Given the description of an element on the screen output the (x, y) to click on. 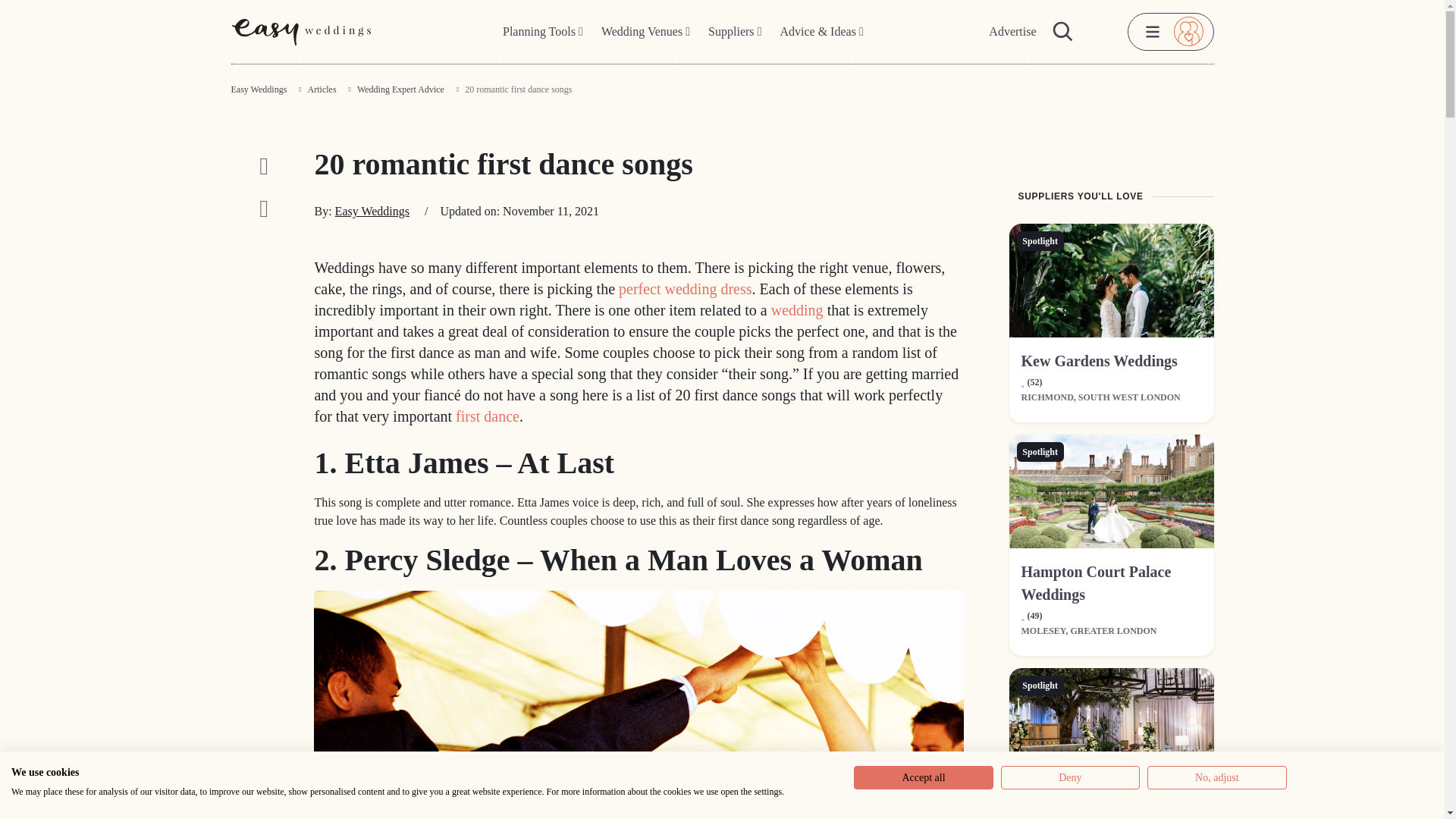
View Profile (1110, 490)
Articles (321, 89)
View Profile (1098, 360)
Kew Gardens Weddings (1098, 360)
Planning Tools (542, 31)
View Reviews (1031, 380)
Easy Weddings (371, 210)
View Profile (1110, 725)
Easy Weddings (258, 89)
Kimpton Fitzroy Weddings London (1108, 807)
Advertise (1012, 31)
Wedding Expert Advice (400, 89)
Suppliers (734, 31)
Wedding Venues (645, 31)
